Given the description of an element on the screen output the (x, y) to click on. 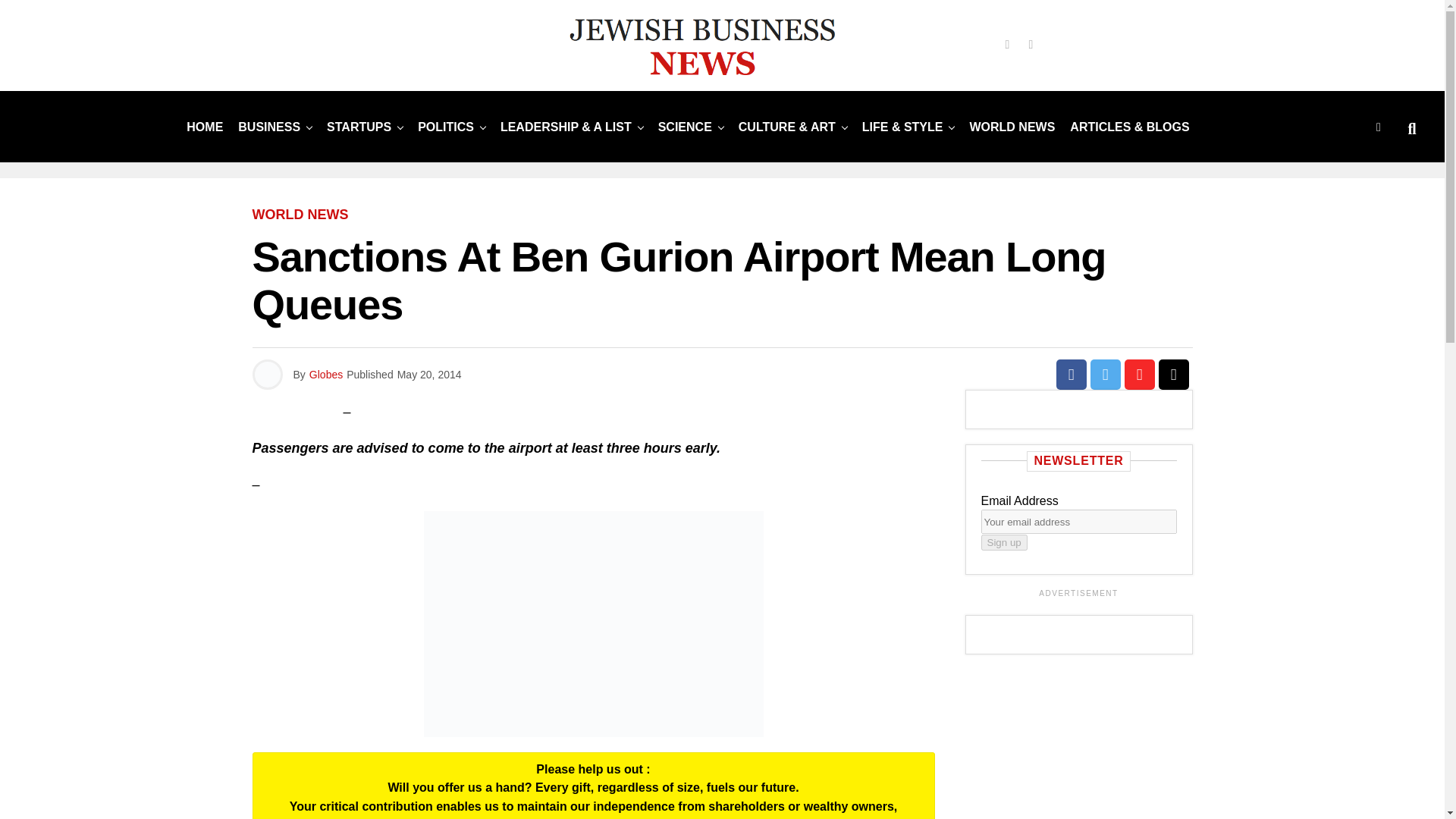
Tweet This Post (1105, 374)
Share on Flipboard (1139, 374)
New Research (684, 126)
Share on Facebook (1070, 374)
Sign up (1004, 542)
Posts by Globes (325, 374)
